Given the description of an element on the screen output the (x, y) to click on. 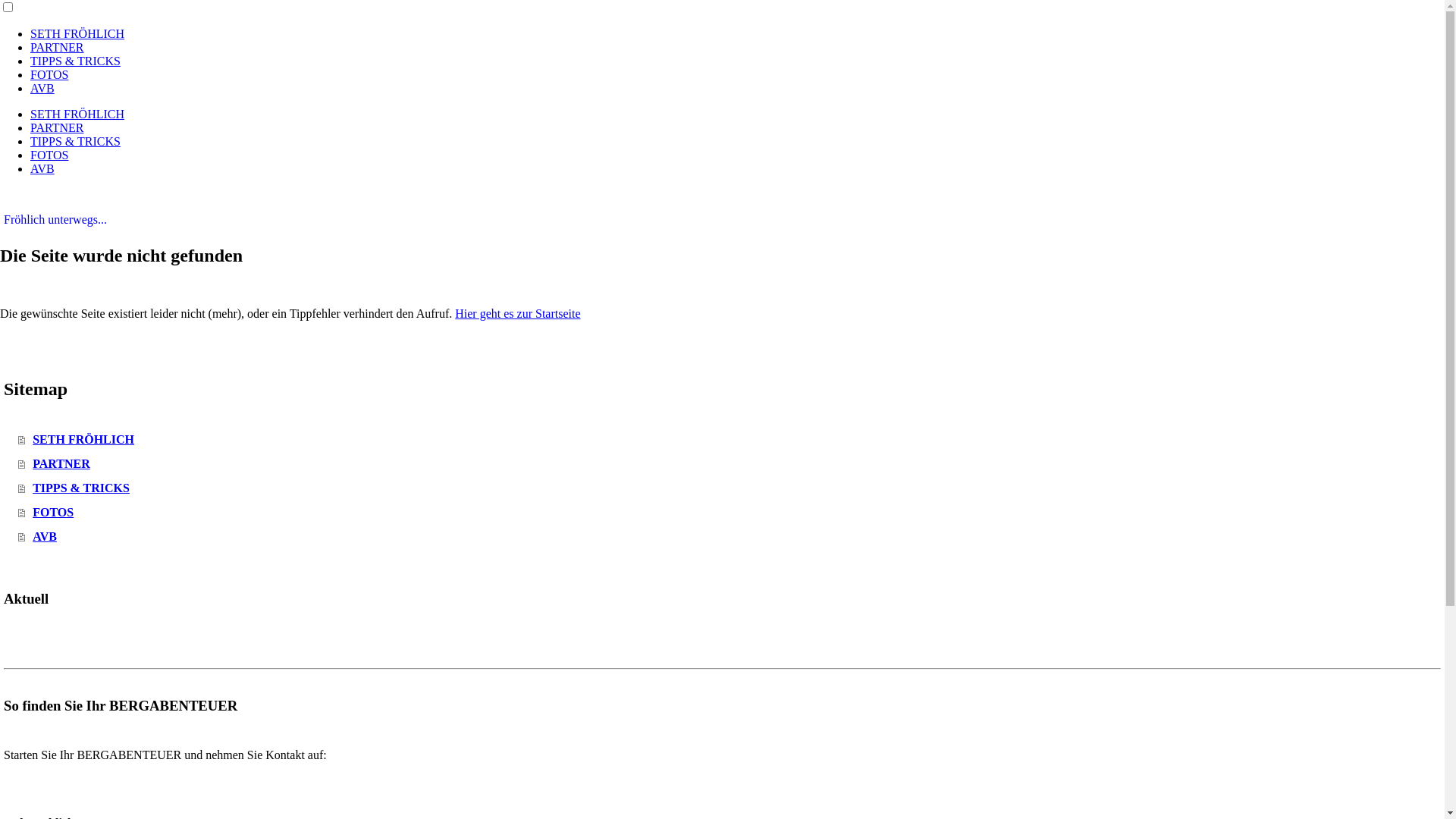
AVB Element type: text (42, 168)
TIPPS & TRICKS Element type: text (731, 488)
PARTNER Element type: text (56, 46)
AVB Element type: text (42, 87)
TIPPS & TRICKS Element type: text (75, 60)
Hier geht es zur Startseite Element type: text (517, 313)
FOTOS Element type: text (49, 154)
FOTOS Element type: text (49, 74)
FOTOS Element type: text (731, 512)
PARTNER Element type: text (56, 127)
PARTNER Element type: text (731, 463)
TIPPS & TRICKS Element type: text (75, 140)
AVB Element type: text (731, 536)
